Given the description of an element on the screen output the (x, y) to click on. 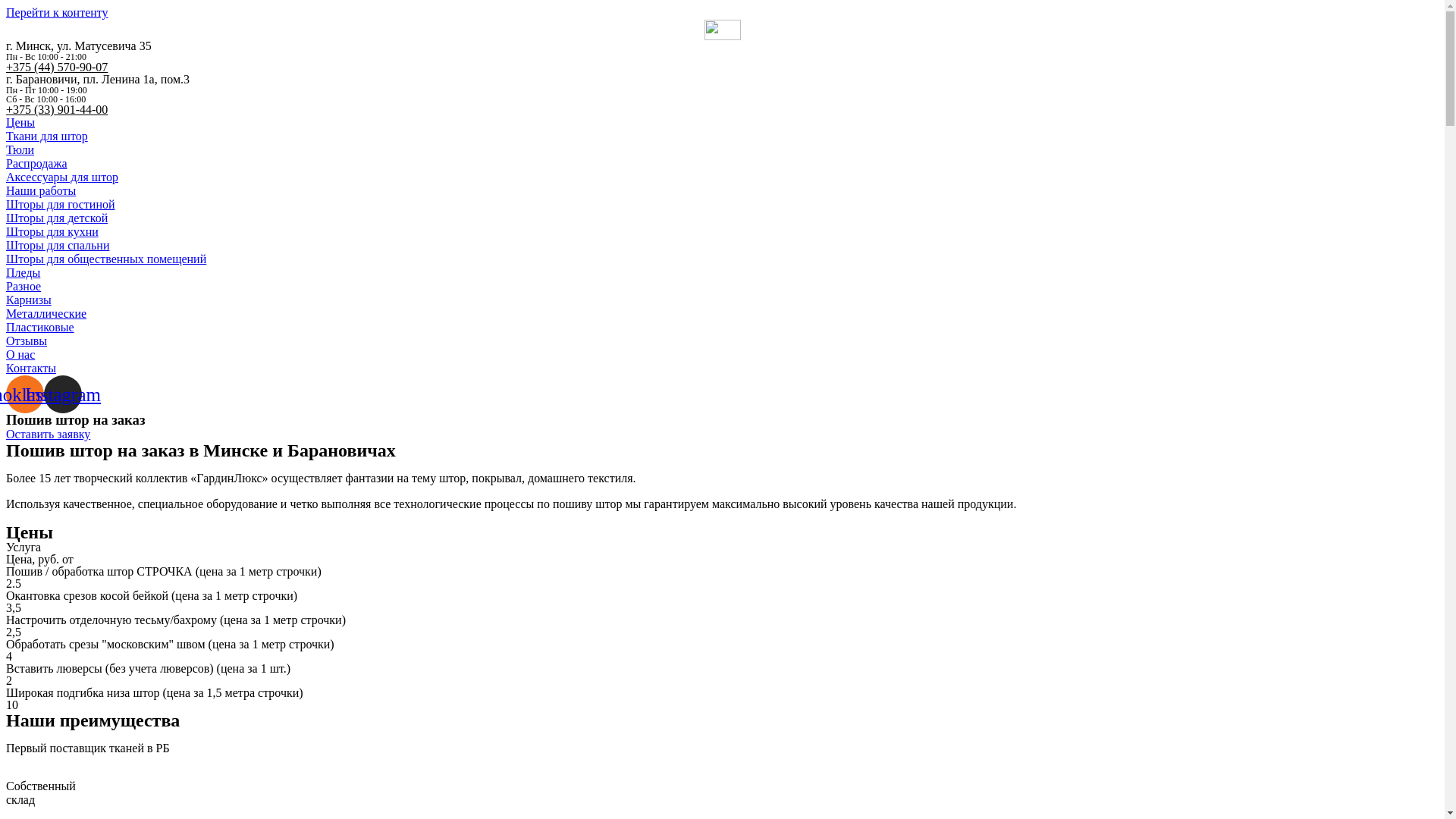
+375 (44) 570-90-07 Element type: text (56, 66)
Odnoklassniki Element type: text (24, 394)
Instagram Element type: text (62, 394)
+375 (33) 901-44-00 Element type: text (56, 109)
